Given the description of an element on the screen output the (x, y) to click on. 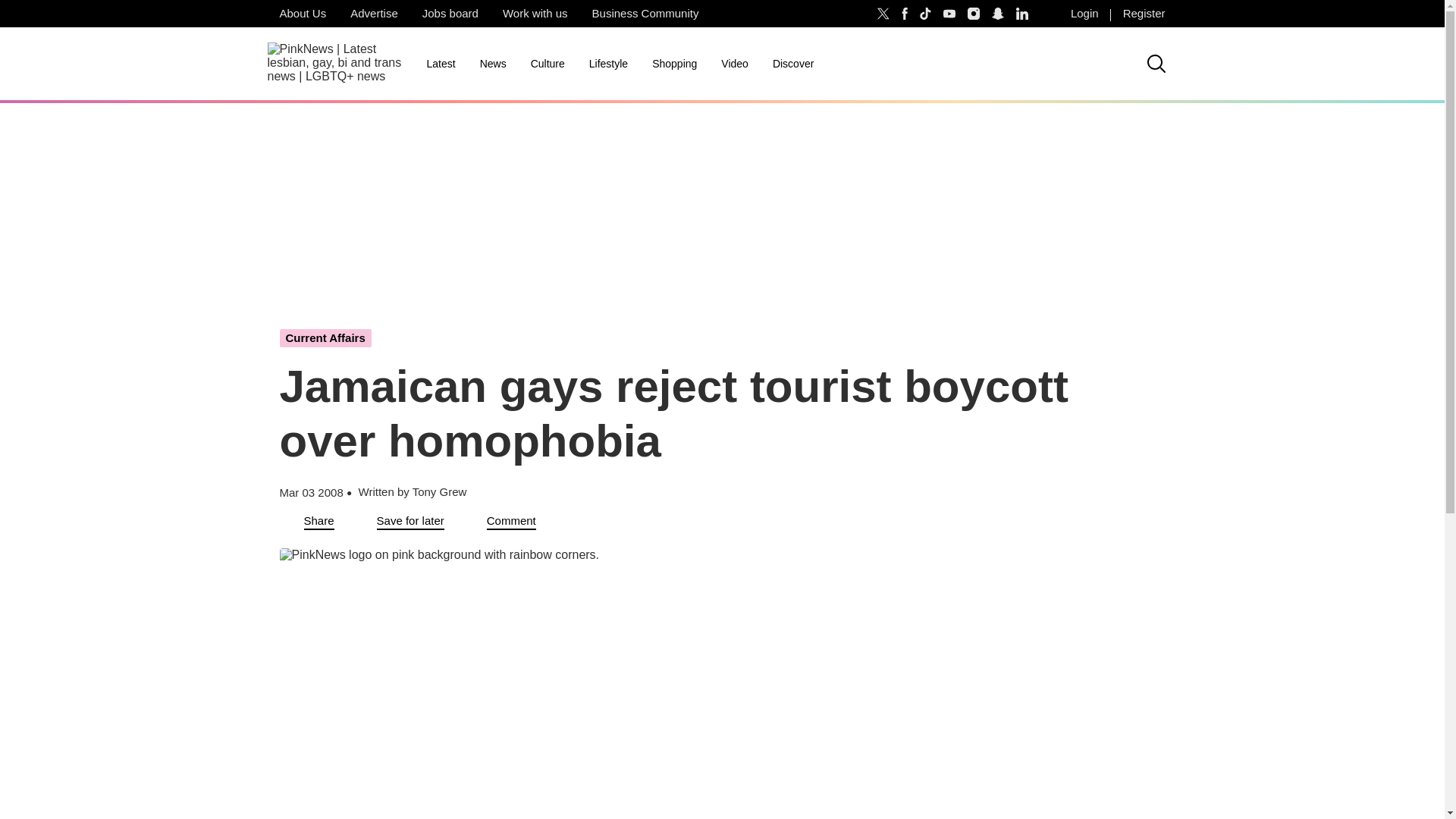
Business Community (645, 13)
Culture (547, 63)
News (493, 63)
About Us (301, 13)
Follow PinkNews on LinkedIn (1021, 13)
Register (1143, 13)
Latest (440, 63)
Jobs board (450, 13)
Lifestyle (608, 63)
Work with us (534, 13)
